Given the description of an element on the screen output the (x, y) to click on. 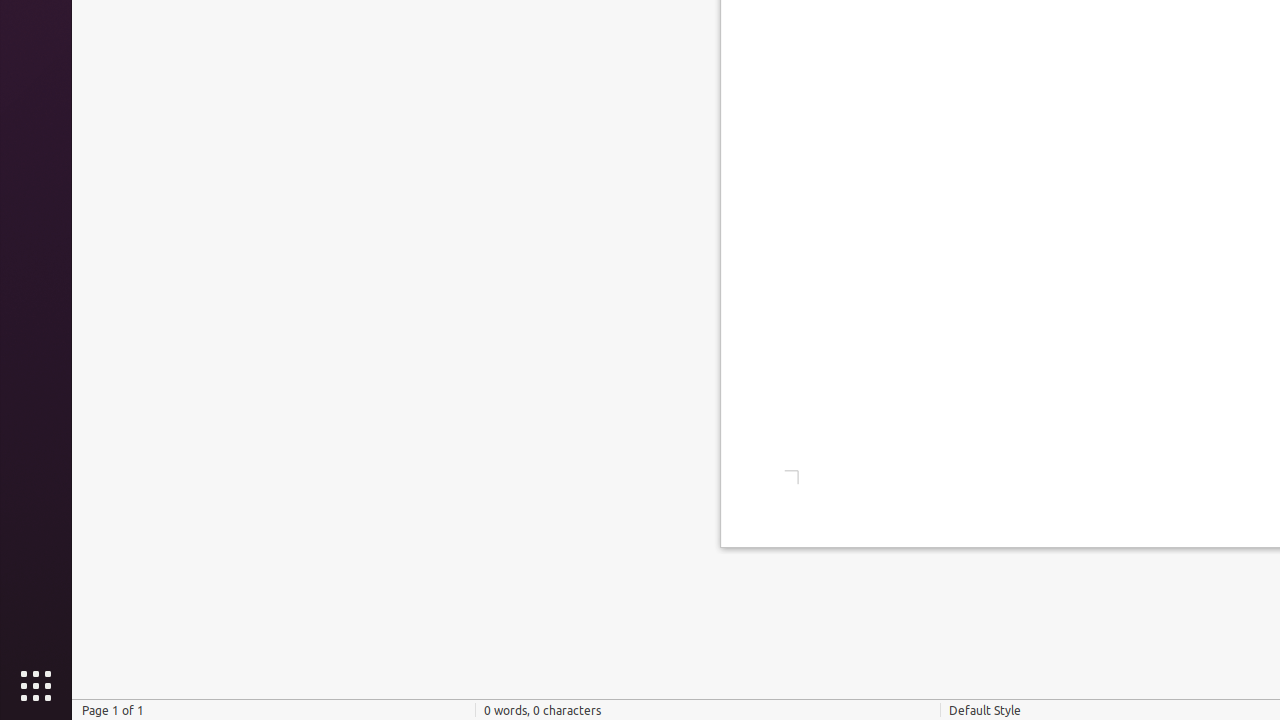
Show Applications Element type: toggle-button (36, 686)
